Given the description of an element on the screen output the (x, y) to click on. 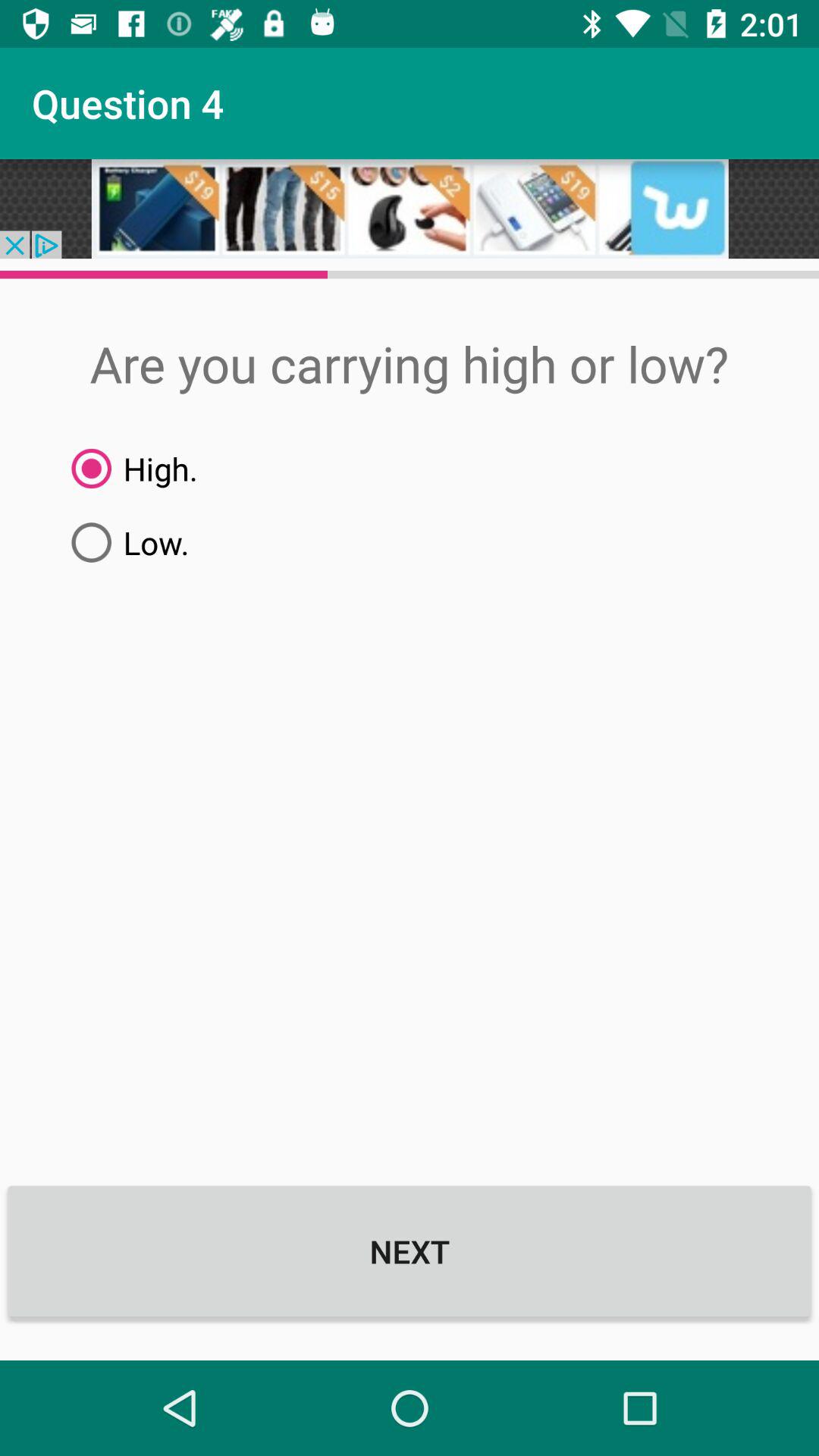
open advertisements detail (409, 208)
